Given the description of an element on the screen output the (x, y) to click on. 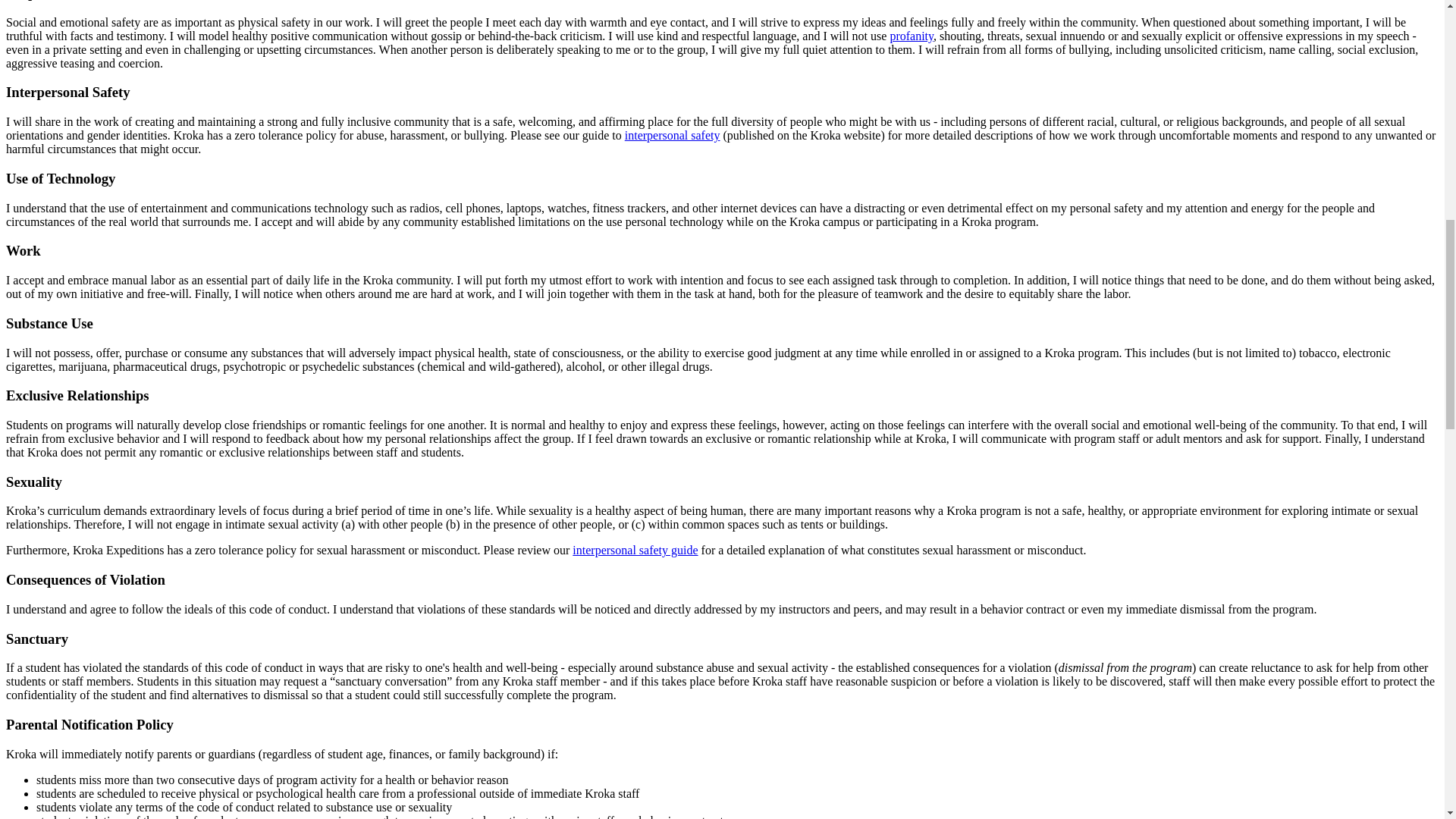
Prohibited vocabulary (911, 35)
profanity (911, 35)
interpersonal safety guide (634, 549)
interpersonal safety (672, 134)
